Given the description of an element on the screen output the (x, y) to click on. 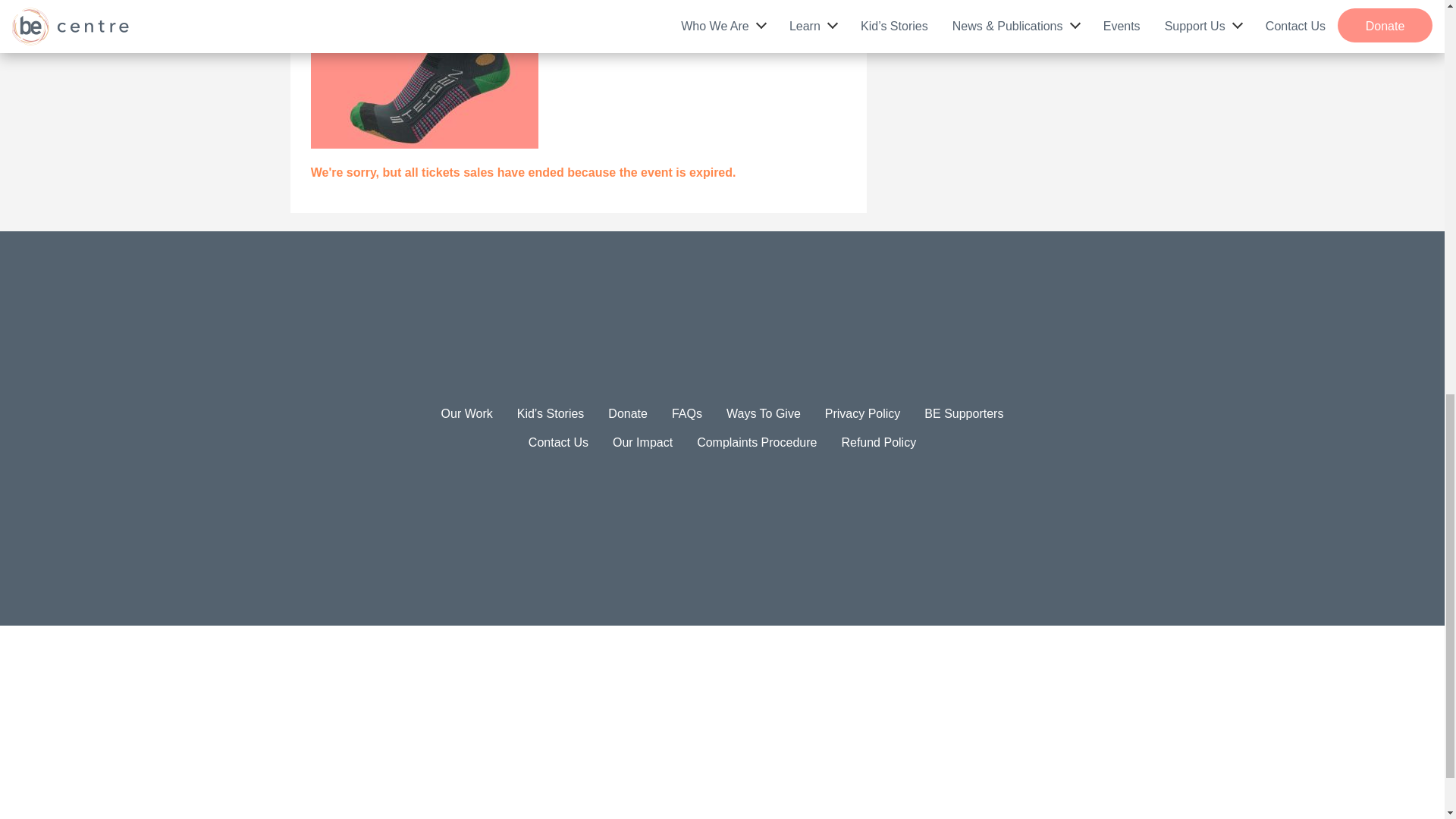
Contact Us (558, 441)
Donate (627, 413)
BE Supporters (963, 413)
Ways To Give (763, 413)
Complaints Procedure (756, 441)
Our Work (467, 413)
FAQs (686, 413)
Privacy Policy (863, 413)
Our Impact (642, 441)
